Given the description of an element on the screen output the (x, y) to click on. 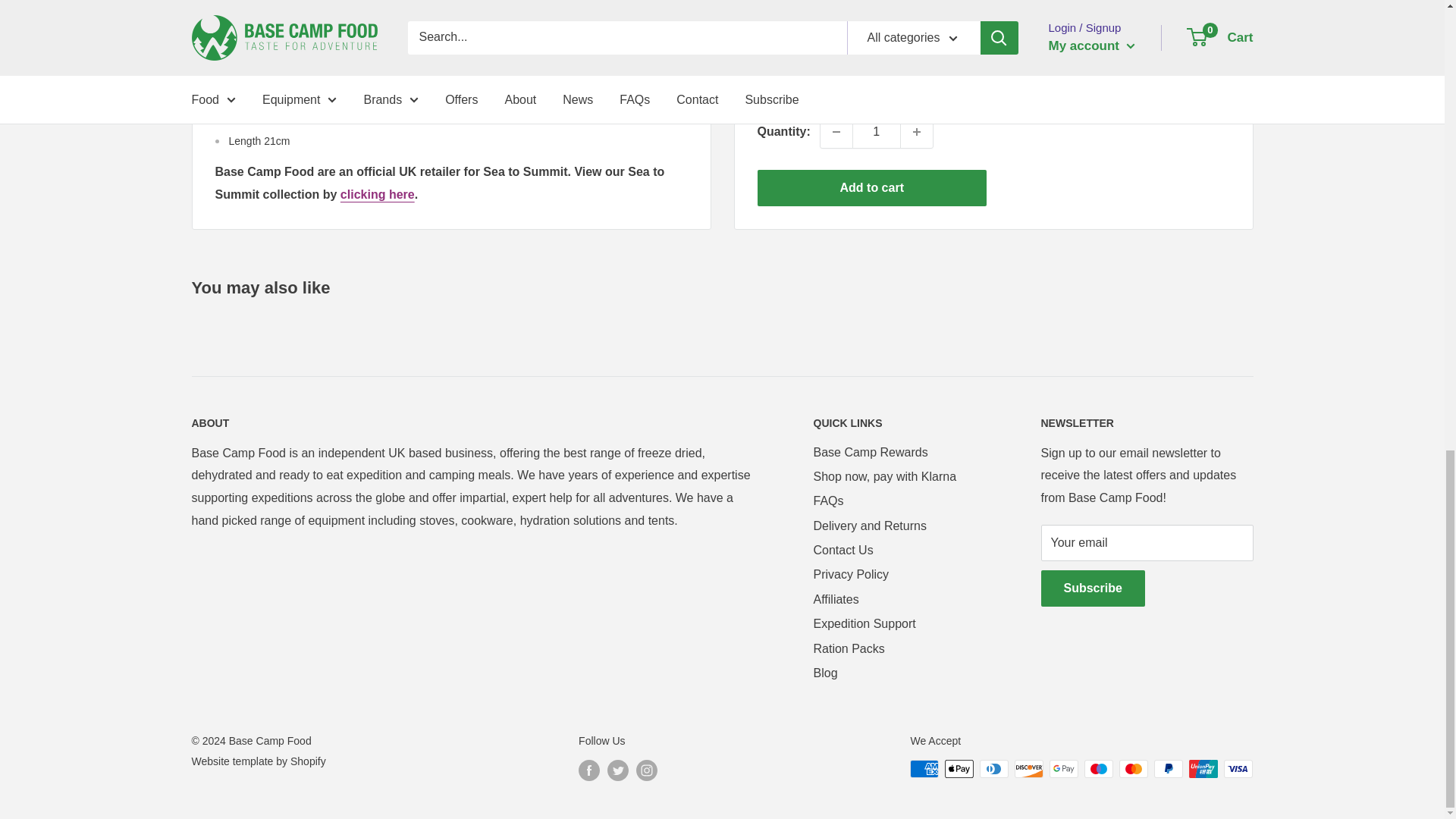
View our Sea to Summit collection by clicking here (377, 194)
